Given the description of an element on the screen output the (x, y) to click on. 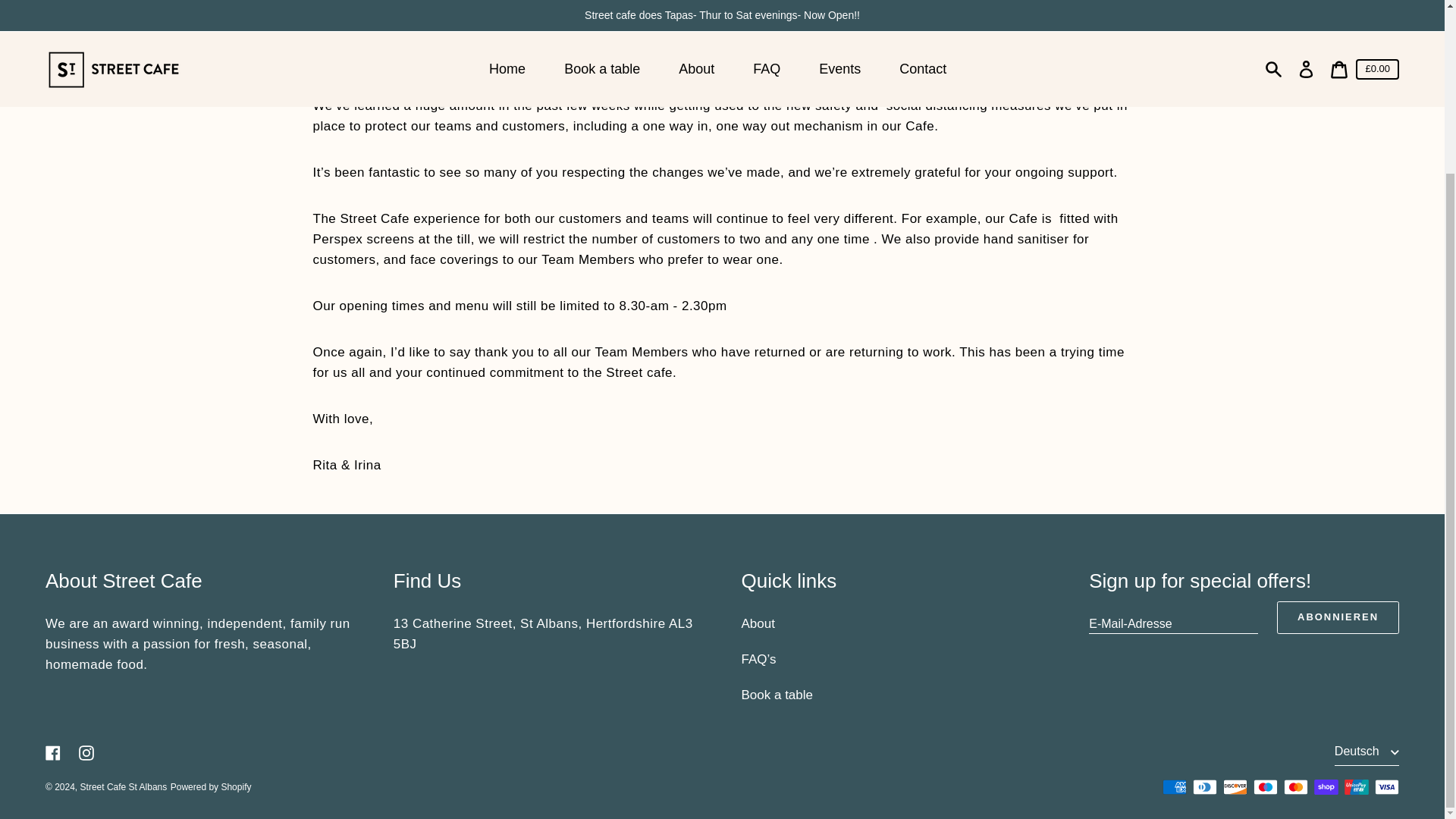
Shop Pay (1326, 786)
About (757, 623)
Visa (1386, 786)
Facebook (53, 751)
Mastercard (1295, 786)
Instagram (86, 751)
Deutsch (1367, 751)
American Express (1173, 786)
Diners Club (1204, 786)
Book a table (777, 694)
ABONNIEREN (1337, 617)
Discover (1235, 786)
Union Pay (1355, 786)
Maestro (1265, 786)
